Given the description of an element on the screen output the (x, y) to click on. 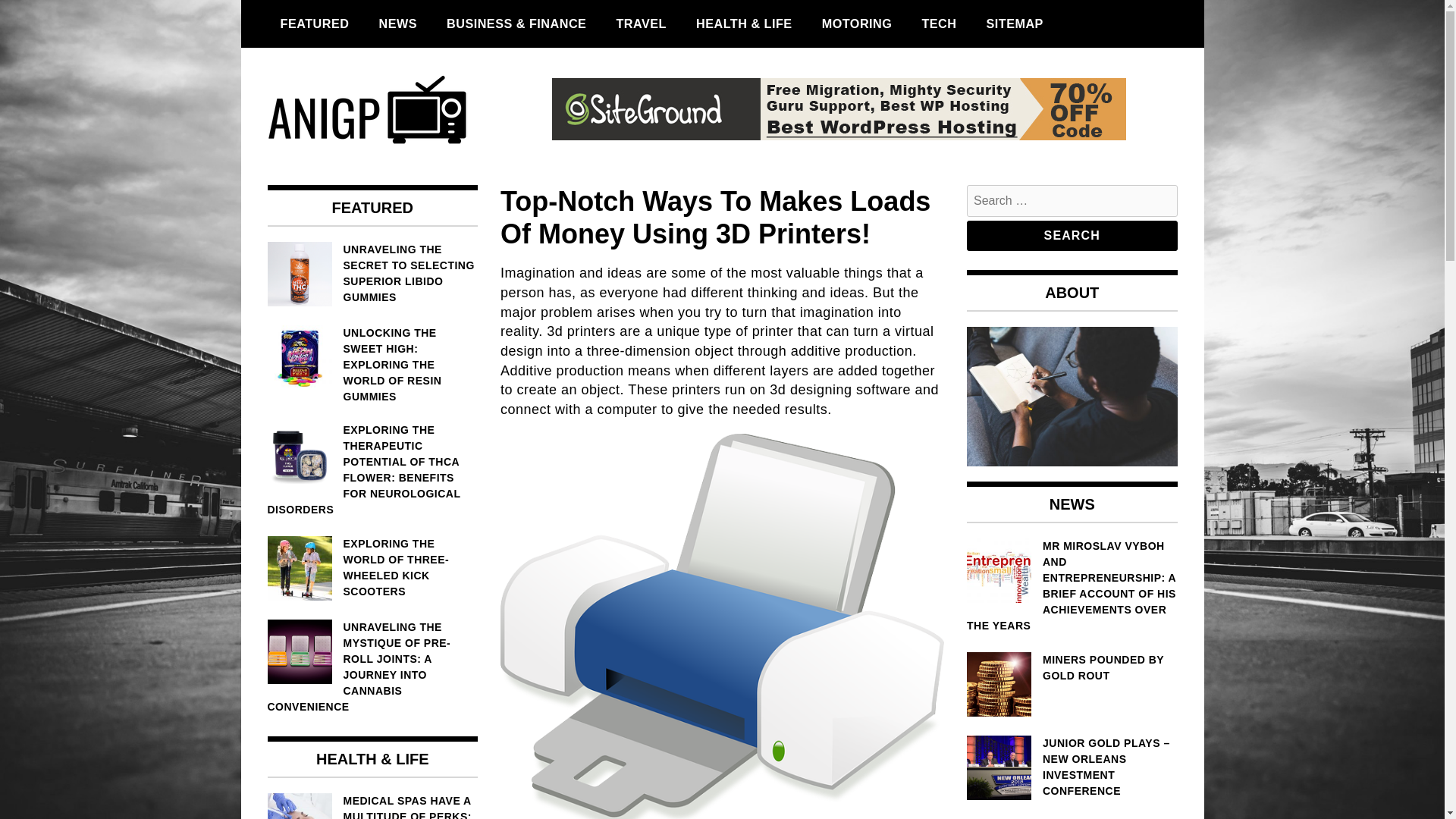
SITEMAP (1014, 23)
Search (1071, 235)
UNRAVELING THE SECRET TO SELECTING SUPERIOR LIBIDO GUMMIES (371, 273)
Search (1071, 235)
Search (1071, 235)
MOTORING (857, 23)
TRAVEL (641, 23)
EXPLORING THE WORLD OF THREE-WHEELED KICK SCOOTERS (371, 567)
Anigp Tv (326, 179)
FEATURED (313, 23)
NEWS (397, 23)
